Given the description of an element on the screen output the (x, y) to click on. 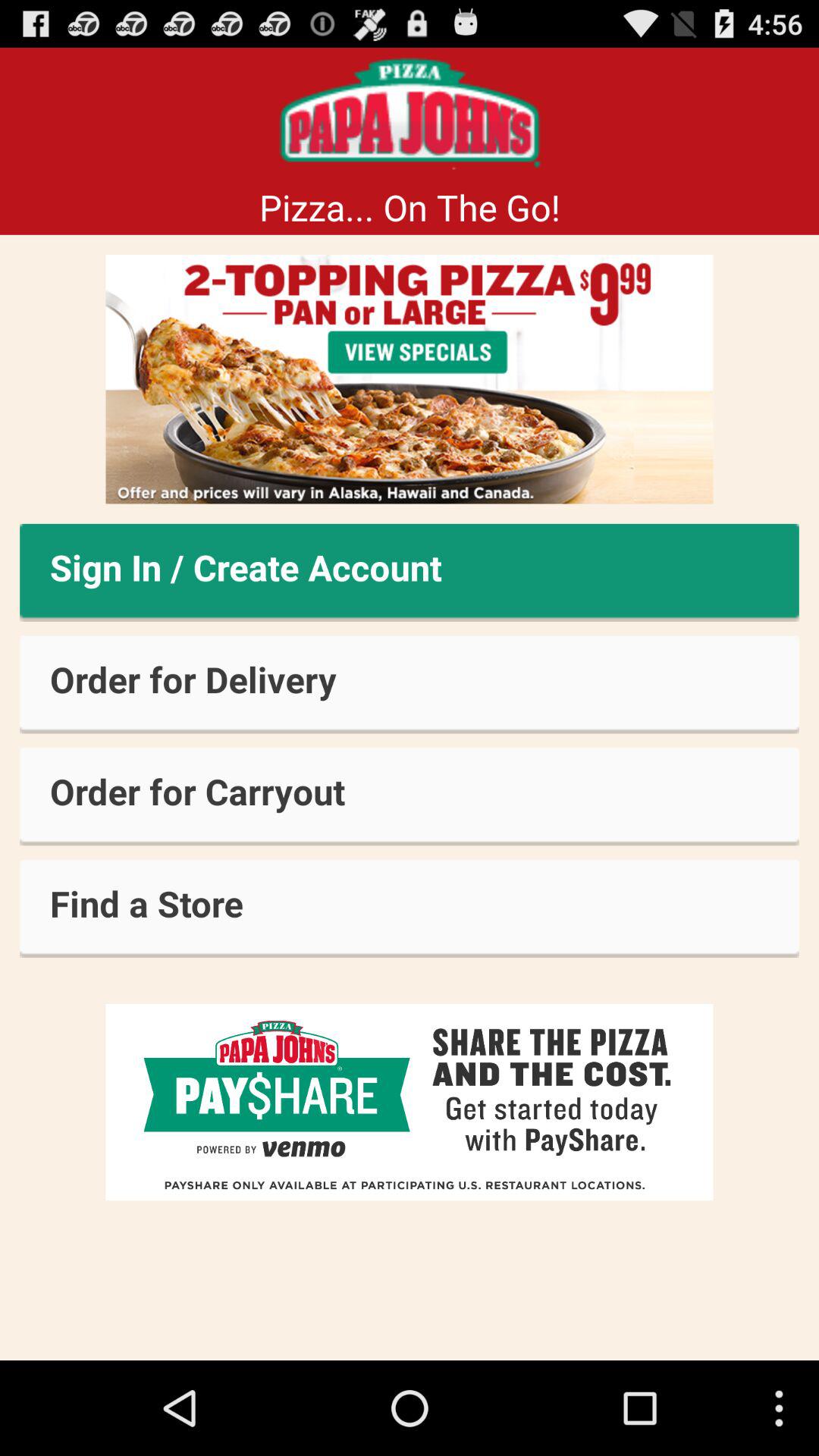
picture of special deal (409, 378)
